Given the description of an element on the screen output the (x, y) to click on. 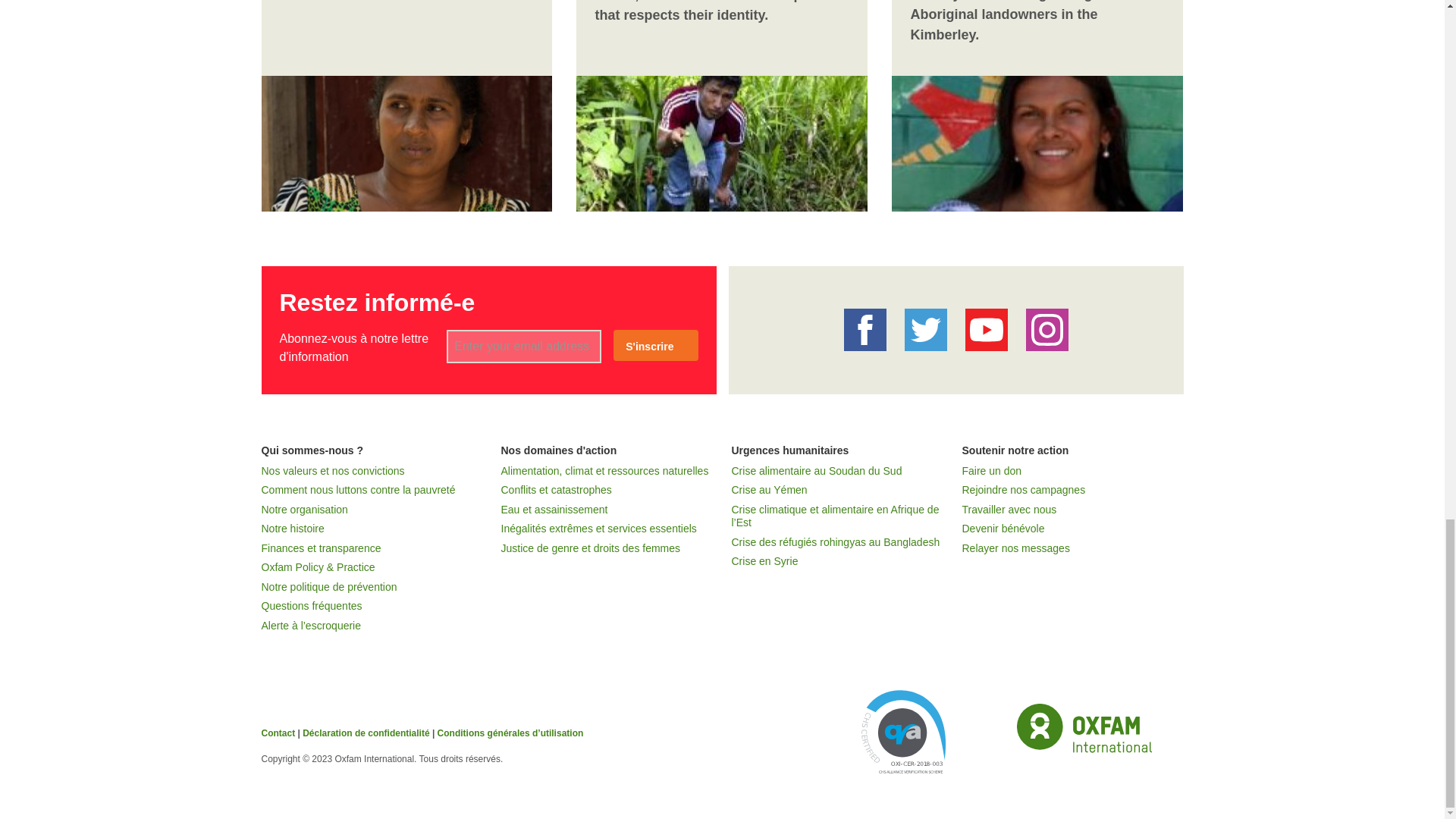
Cissy, land rights defender from Australia (1030, 140)
S'inscrire (654, 345)
